Given the description of an element on the screen output the (x, y) to click on. 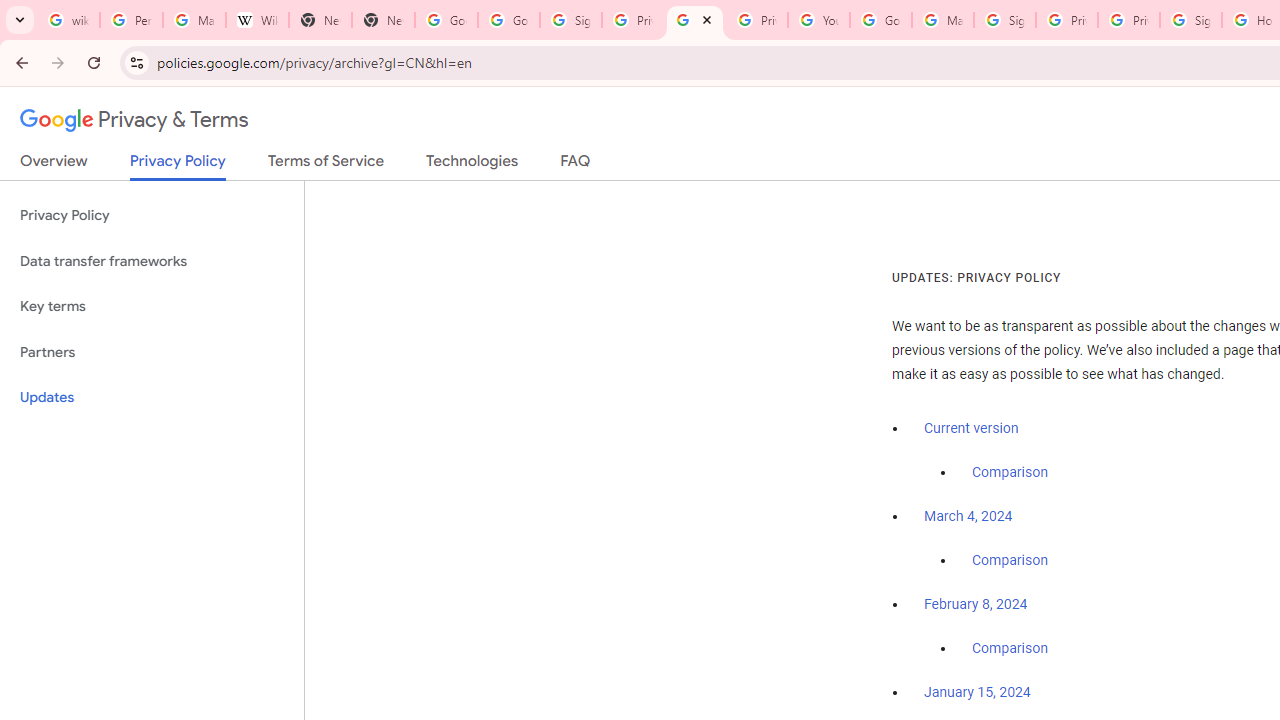
February 8, 2024 (975, 605)
New Tab (320, 20)
New Tab (383, 20)
Wikipedia:Edit requests - Wikipedia (257, 20)
Google Account Help (880, 20)
Current version (971, 428)
